Given the description of an element on the screen output the (x, y) to click on. 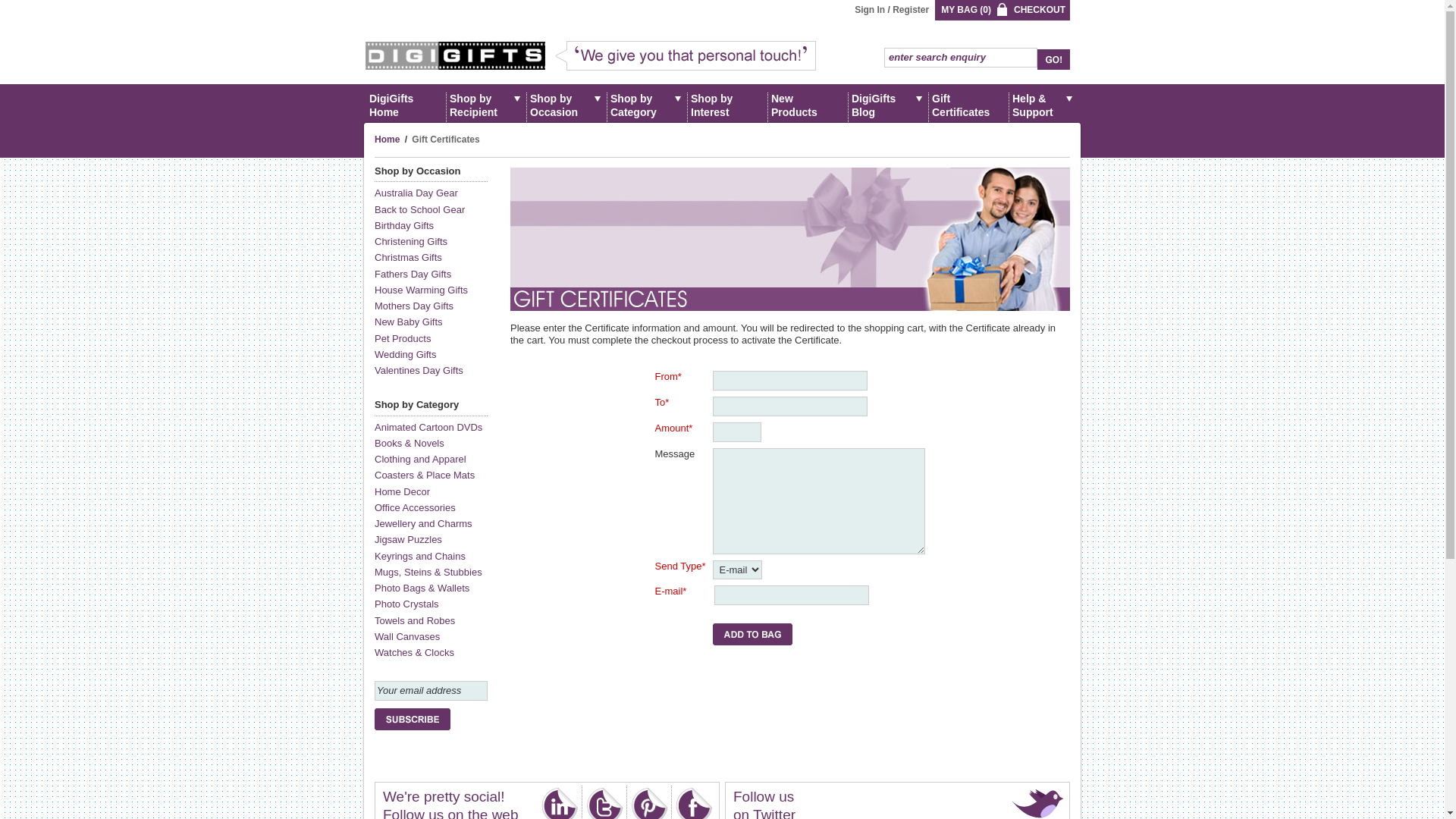
Jewellery and Charms Element type: text (423, 523)
Jigsaw Puzzles Element type: text (408, 539)
House Warming Gifts Element type: text (420, 289)
Register Element type: text (910, 9)
Books & Novels Element type: text (409, 442)
MY BAG (0) Element type: text (966, 9)
Towels and Robes Element type: text (414, 619)
DigiGifts Element type: text (455, 55)
New
Products Element type: text (808, 103)
Office Accessories Element type: text (414, 507)
Shop by Recipient Element type: text (486, 103)
Valentines Day Gifts Element type: text (418, 370)
Photo Crystals Element type: text (406, 603)
Wedding Gifts Element type: text (405, 354)
New Baby Gifts Element type: text (408, 321)
Photo Bags & Wallets Element type: text (421, 587)
Help &
Support Element type: text (1043, 103)
Shop by Category Element type: text (647, 103)
Christening Gifts Element type: text (410, 241)
Go! Element type: hover (1053, 59)
Christmas Gifts Element type: text (408, 257)
Shop by Category Element type: text (416, 404)
DigiGifts
Blog Element type: text (888, 103)
Coasters & Place Mats Element type: text (424, 474)
Birthday Gifts Element type: text (403, 225)
DigiGifts
Home Element type: text (406, 103)
Home Element type: text (386, 139)
Add to Bag Element type: hover (752, 634)
Subscribe Element type: hover (412, 719)
Fathers Day Gifts Element type: text (412, 273)
Home Decor Element type: text (401, 490)
Pet Products Element type: text (402, 337)
Back to School Gear Element type: text (419, 208)
Gift
Certificates Element type: text (968, 103)
CHECKOUT Element type: text (1039, 9)
Wall Canvases Element type: text (406, 636)
Watches & Clocks Element type: text (414, 652)
Shop by
Interest Element type: text (727, 103)
Your email address Element type: text (430, 690)
Sign In Element type: text (869, 9)
Australia Day Gear Element type: text (416, 192)
Clothing and Apparel Element type: text (420, 458)
Animated Cartoon DVDs Element type: text (428, 427)
Keyrings and Chains Element type: text (419, 555)
Shop by Occasion Element type: text (567, 103)
enter search enquiry Element type: text (960, 57)
Mugs, Steins & Stubbies Element type: text (428, 571)
Mothers Day Gifts Element type: text (413, 305)
Shop by Occasion Element type: text (417, 170)
